Given the description of an element on the screen output the (x, y) to click on. 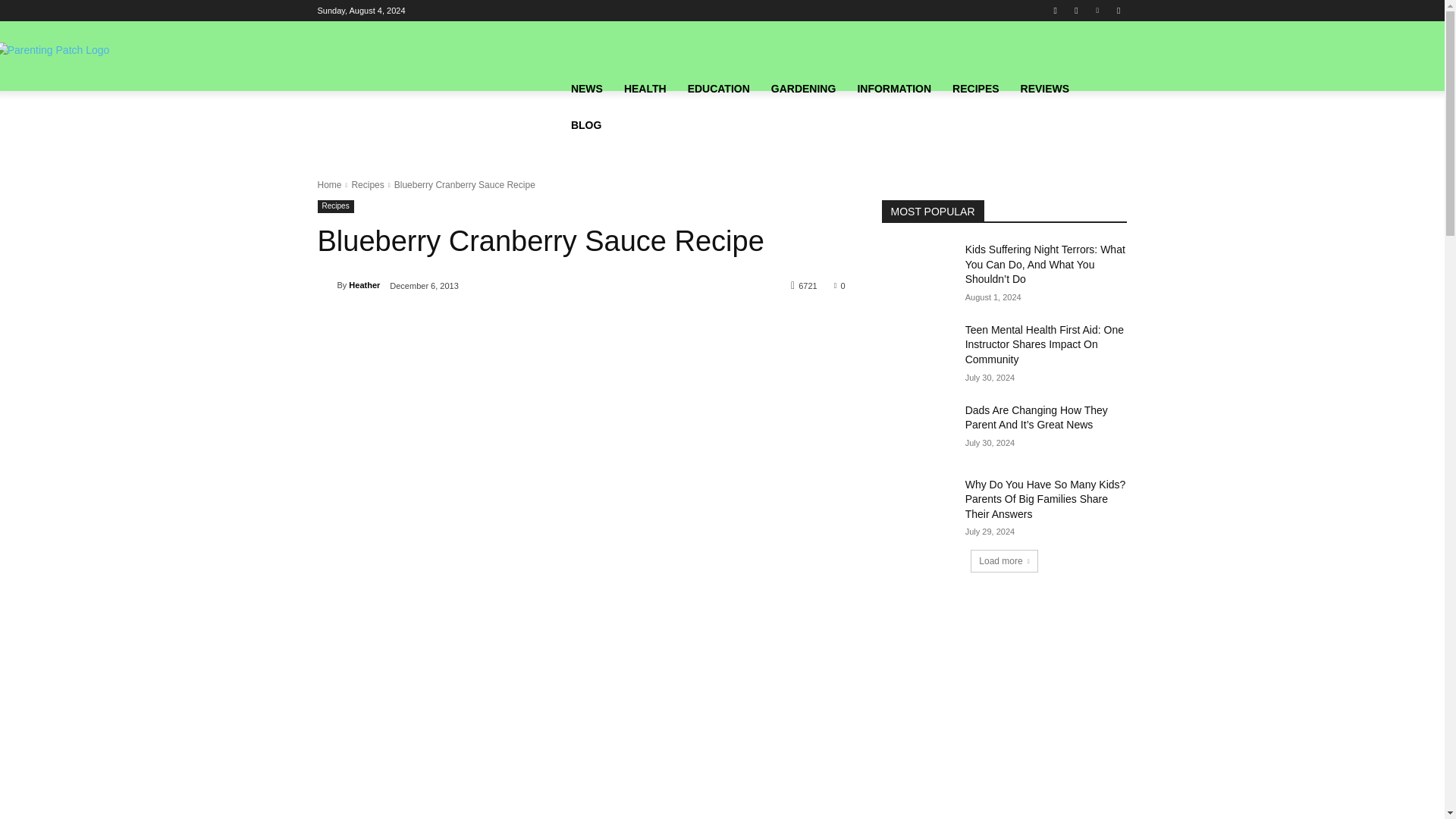
Recipes (335, 205)
EDUCATION (718, 87)
HEALTH (644, 87)
INFORMATION (893, 87)
NEWS (586, 87)
0 (839, 284)
BLOG (585, 124)
Pinterest (1097, 9)
Parenting Patch Logo (441, 106)
Facebook (1055, 9)
